Given the description of an element on the screen output the (x, y) to click on. 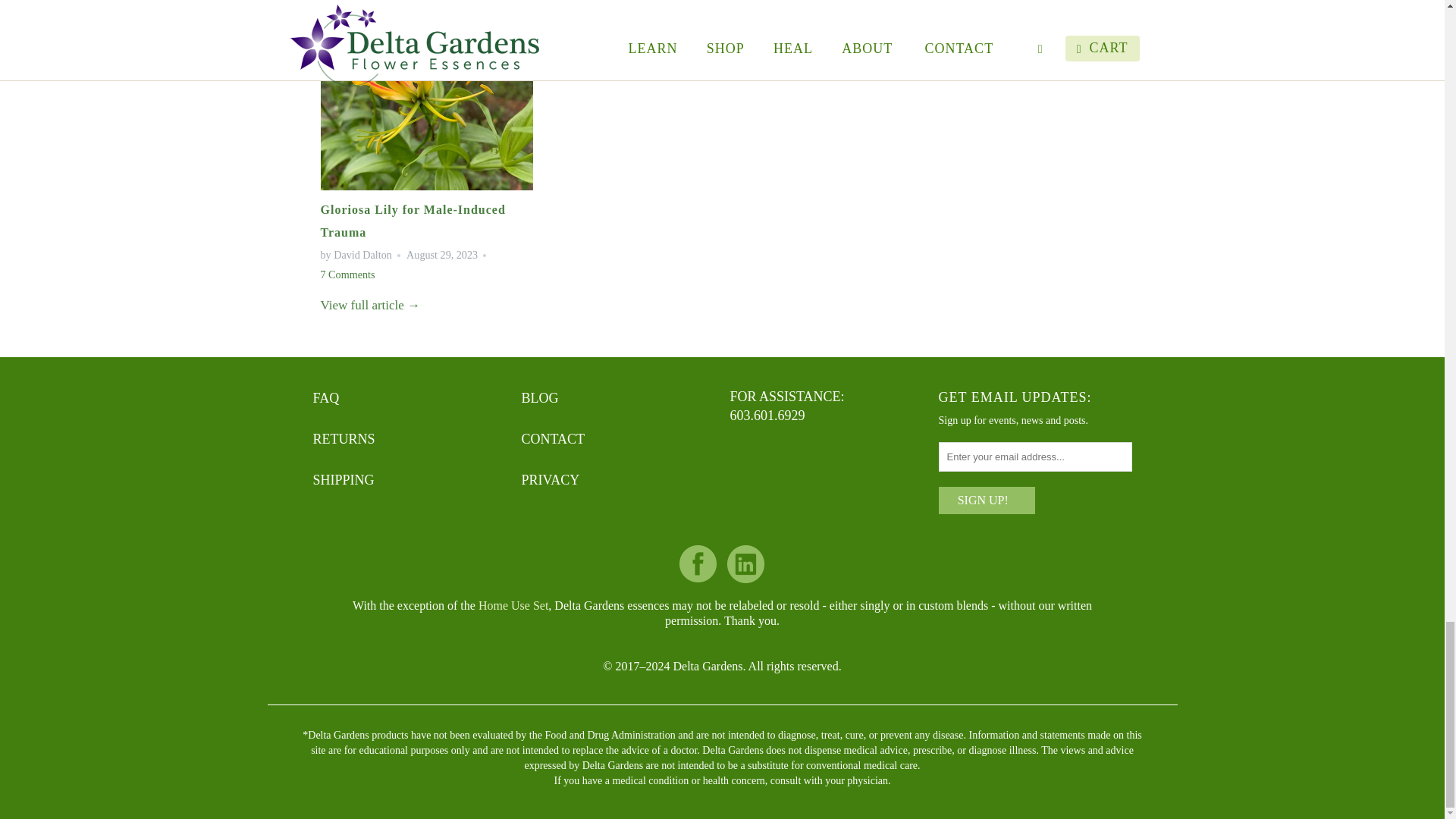
Sign Up! (987, 500)
Gloriosa Lily for Male-Induced Trauma (426, 186)
Gloriosa Lily for Male-Induced Trauma (412, 221)
Gloriosa Lily for Male-Induced Trauma (370, 305)
